Given the description of an element on the screen output the (x, y) to click on. 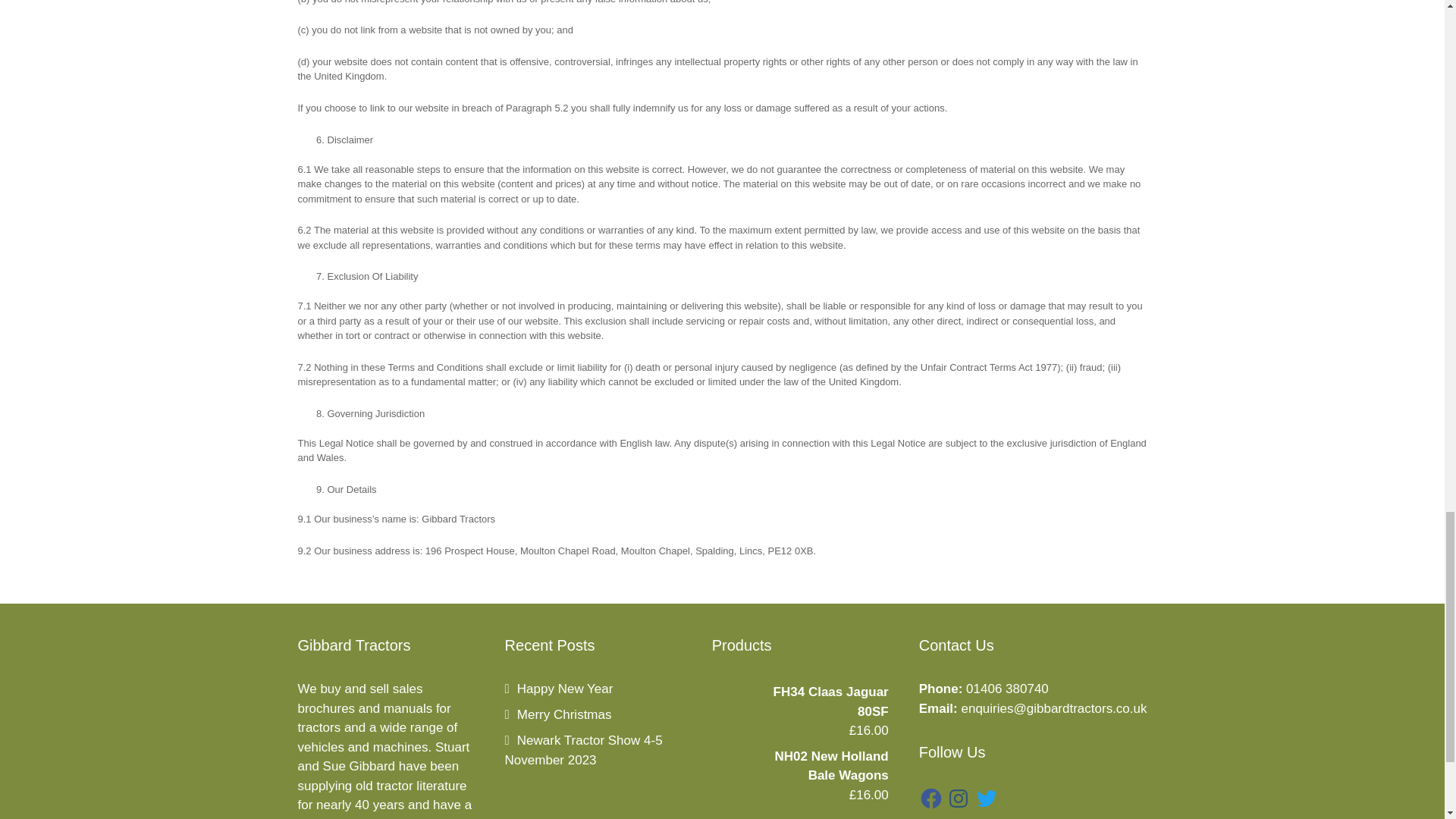
FH34 Claas Jaguar 80SF (799, 701)
Happy New Year (558, 688)
Twitter (986, 798)
Newark Tractor Show 4-5 November 2023 (583, 750)
NH02 New Holland Bale Wagons (799, 765)
Instagram (958, 798)
Facebook (930, 798)
Merry Christmas (558, 714)
